Given the description of an element on the screen output the (x, y) to click on. 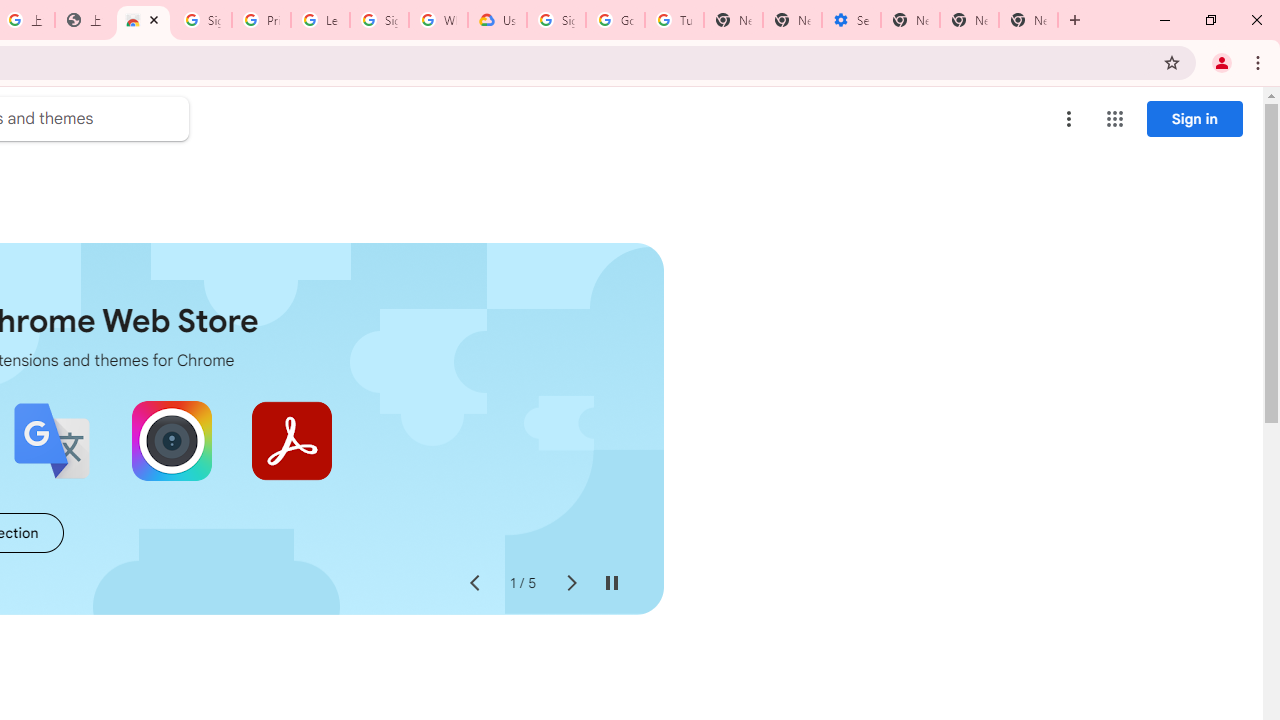
Settings - Addresses and more (850, 20)
Next slide (570, 583)
Sign in - Google Accounts (201, 20)
Pause auto-play (611, 583)
New Tab (909, 20)
Who are Google's partners? - Privacy and conditions - Google (438, 20)
New Tab (1028, 20)
More options menu (1069, 118)
Chrome Web Store (142, 20)
